Given the description of an element on the screen output the (x, y) to click on. 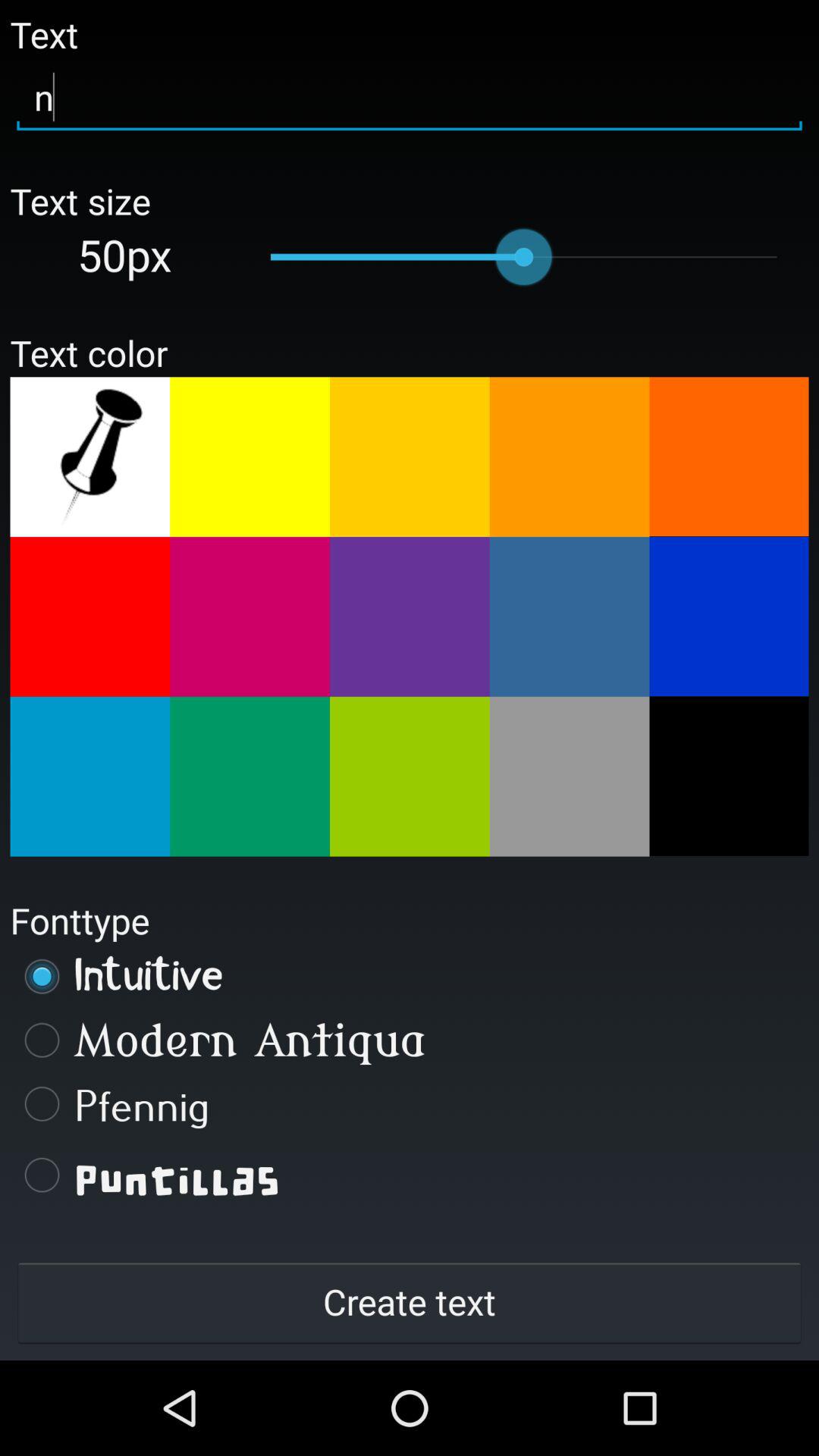
dusty blue text color (569, 616)
